Given the description of an element on the screen output the (x, y) to click on. 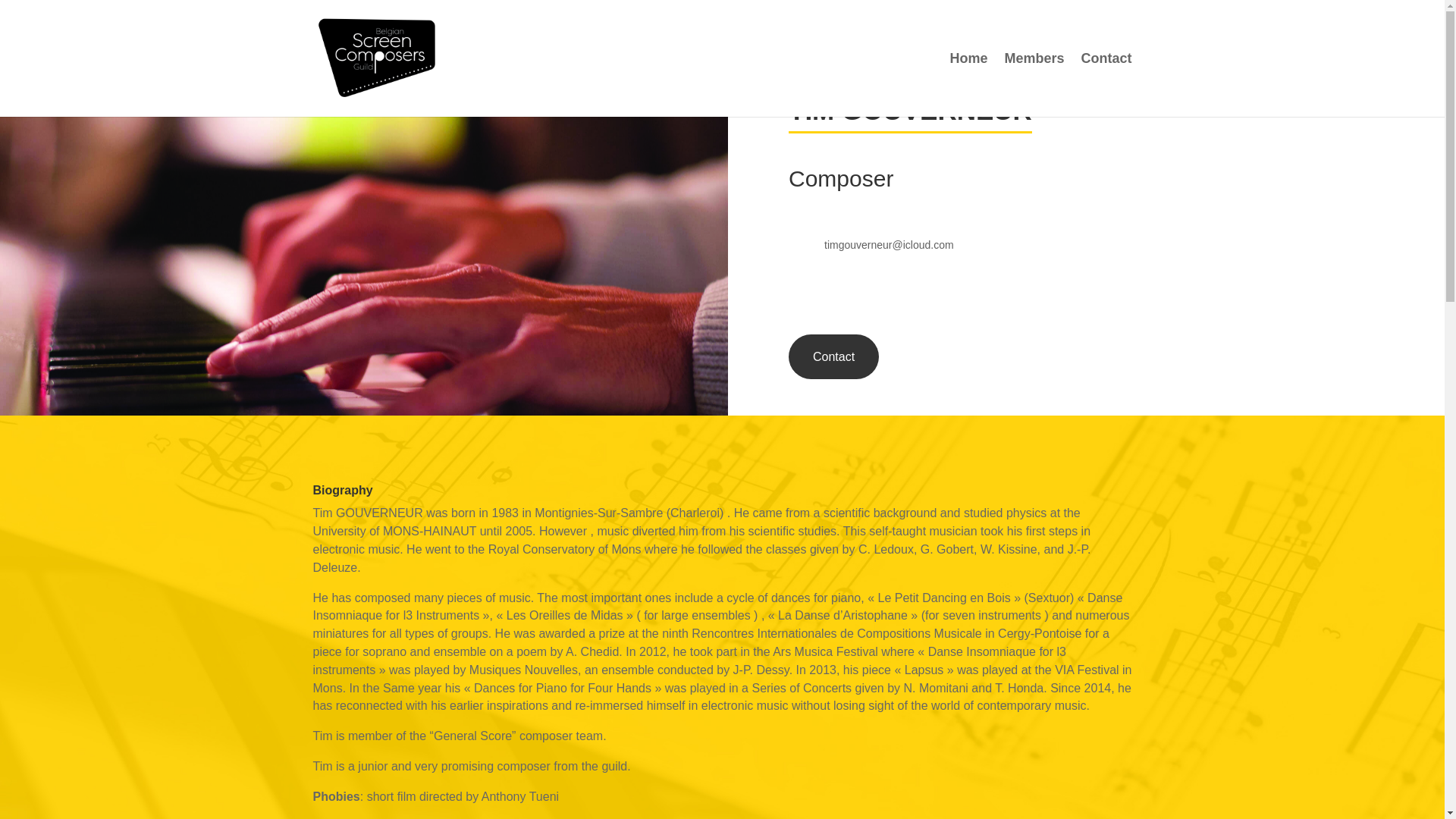
Members (1034, 85)
Contact (834, 356)
